Given the description of an element on the screen output the (x, y) to click on. 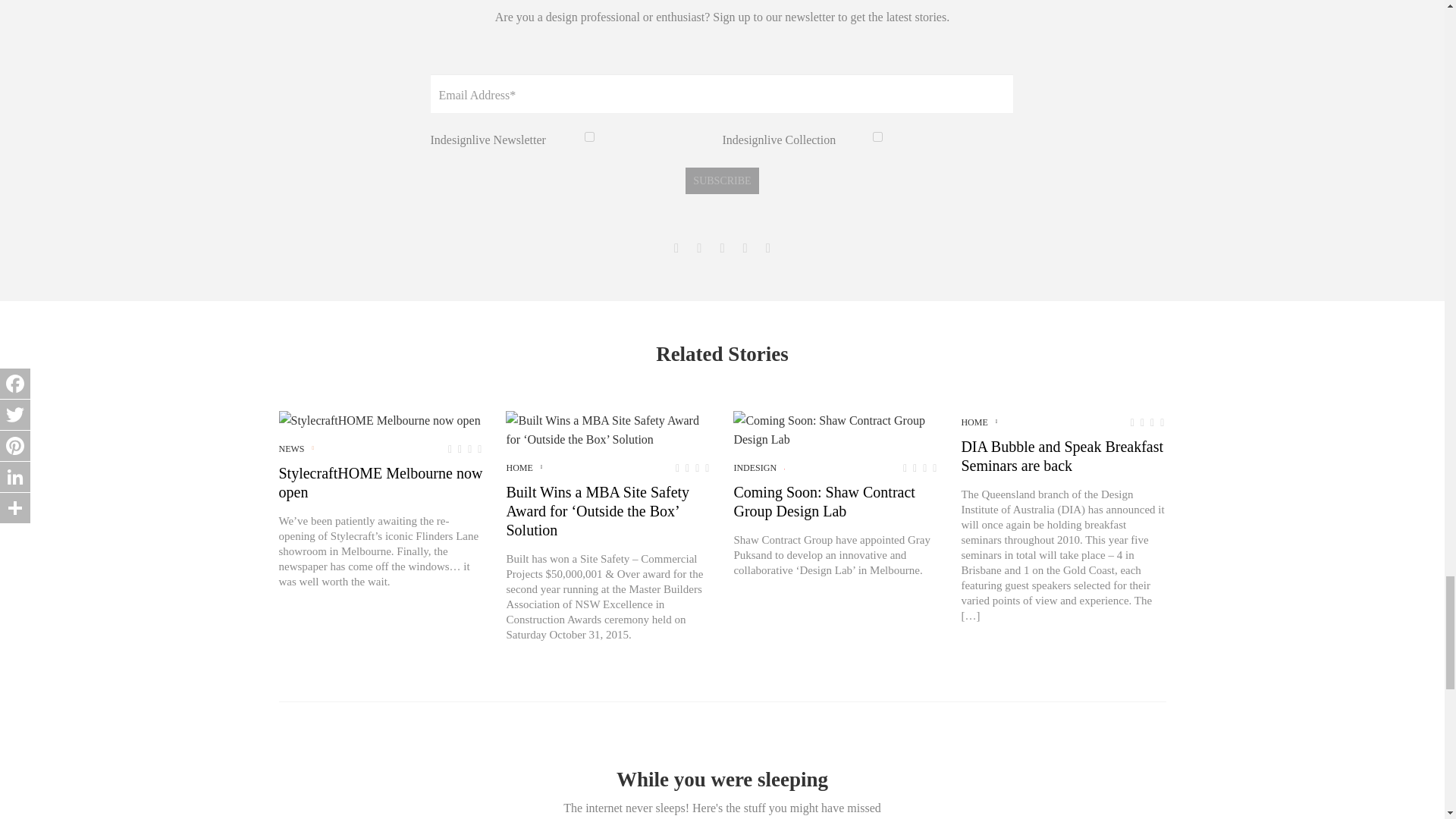
yes (589, 136)
StylecraftHOME Melbourne now open (379, 420)
yes (877, 136)
Coming Soon: Shaw Contract Group Design Lab (835, 429)
